Given the description of an element on the screen output the (x, y) to click on. 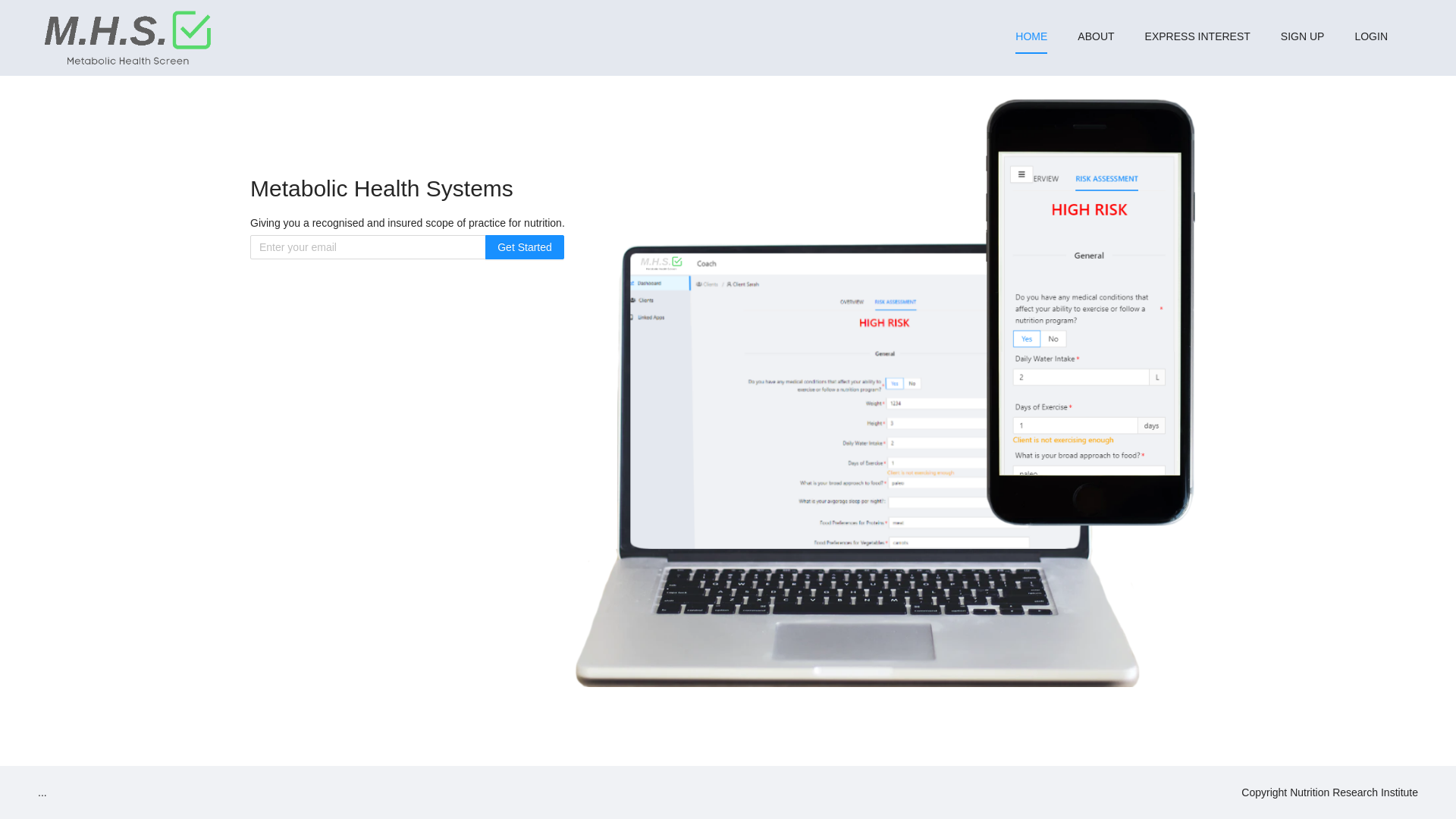
HOME Element type: text (1031, 36)
ABOUT Element type: text (1095, 36)
SIGN UP Element type: text (1302, 36)
LOGIN Element type: text (1370, 36)
Get Started Element type: text (524, 247)
EXPRESS INTEREST Element type: text (1197, 36)
